Given the description of an element on the screen output the (x, y) to click on. 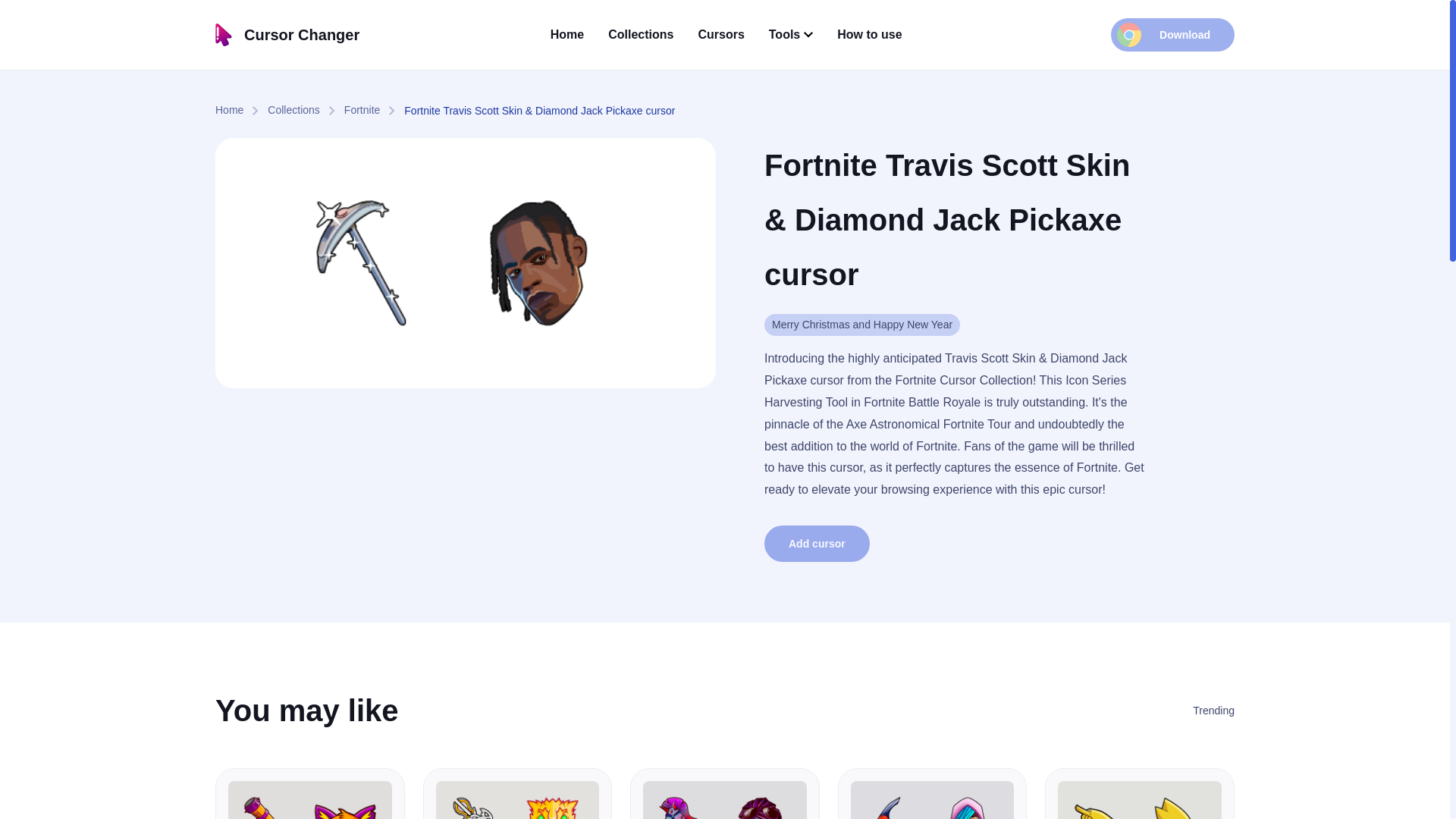
Fortnite (373, 109)
Download (1172, 34)
Tools (790, 34)
Fortnite (373, 109)
Home (241, 109)
Home (566, 33)
How to use (869, 33)
Cursors (720, 33)
Collections (640, 33)
Home (241, 109)
Cursor Changer (287, 34)
Collections (305, 109)
Collections (305, 109)
Add cursor (816, 543)
